Given the description of an element on the screen output the (x, y) to click on. 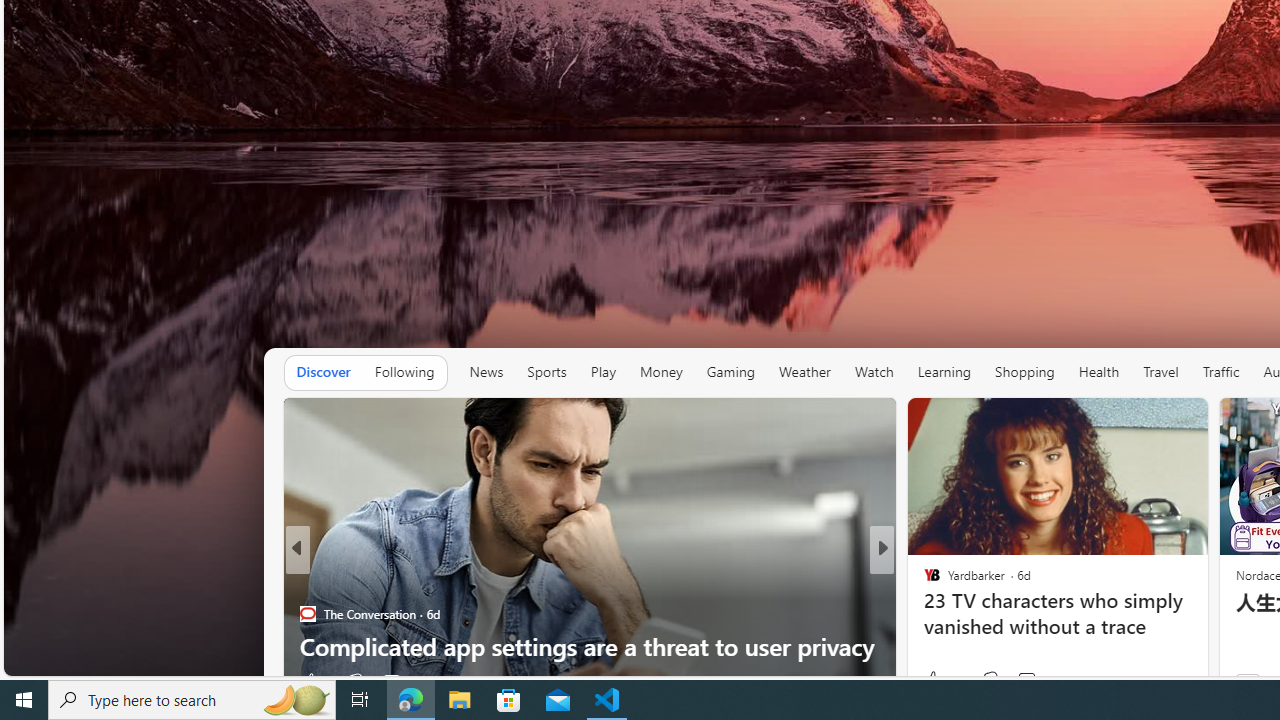
View comments 88 Comment (1019, 681)
Learning (944, 371)
Sports (546, 371)
Health (1099, 371)
View comments 2 Comment (1019, 681)
Inverse (923, 581)
Ad Choice (264, 681)
Shopping (1025, 371)
Weather (804, 371)
Money (661, 372)
896 Like (942, 680)
XDA Developers (923, 581)
17 Like (934, 681)
320 Like (936, 681)
